Given the description of an element on the screen output the (x, y) to click on. 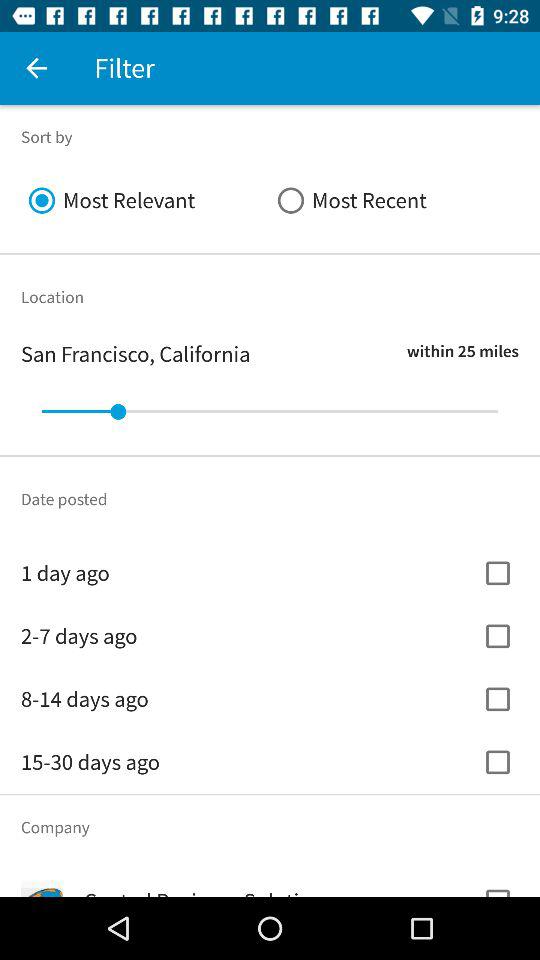
press the icon next to the filter icon (36, 68)
